Given the description of an element on the screen output the (x, y) to click on. 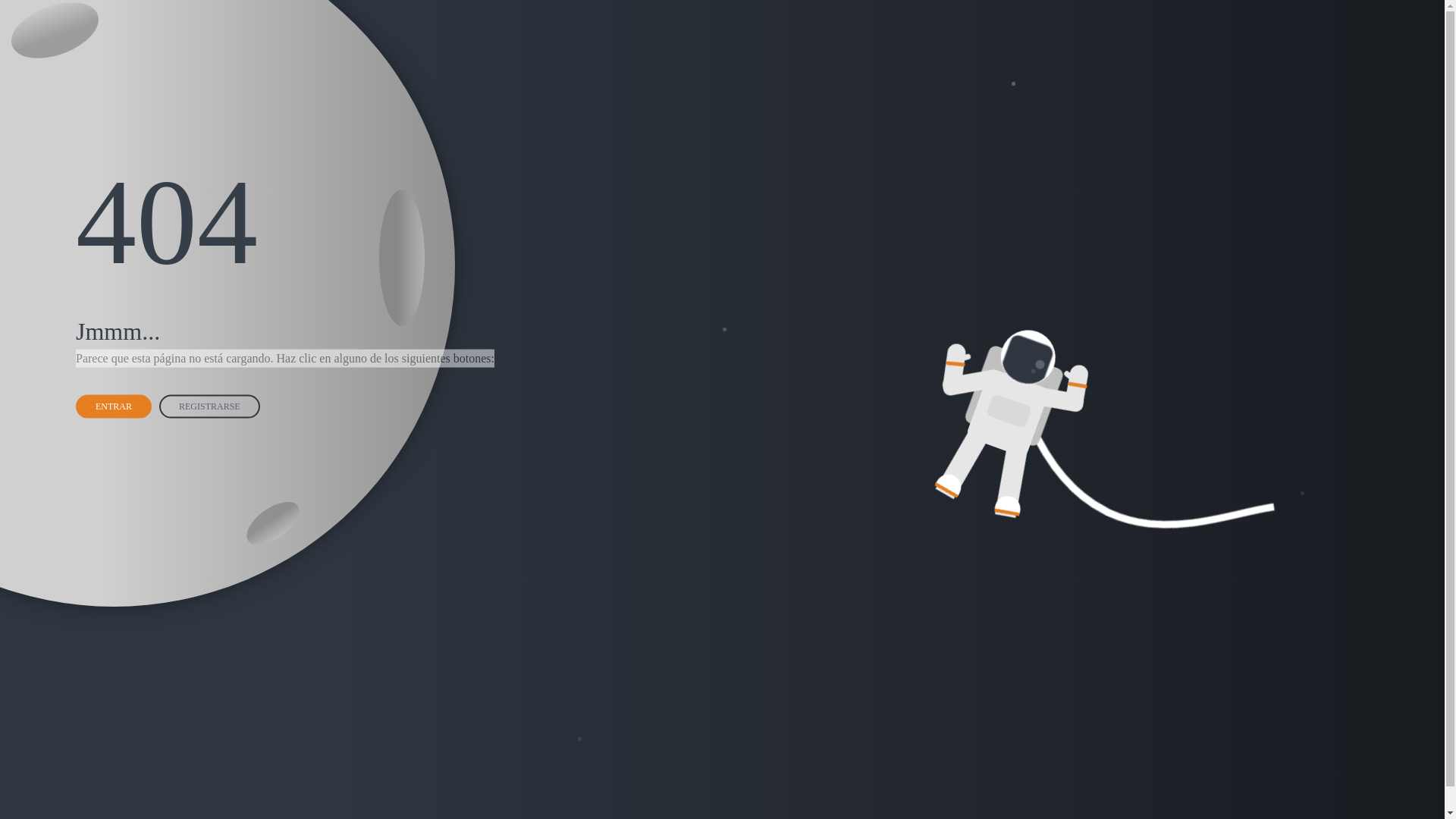
ENTRAR Element type: text (113, 406)
REGISTRARSE Element type: text (209, 406)
REGISTRARSE Element type: text (211, 404)
ENTRAR Element type: text (115, 404)
